Given the description of an element on the screen output the (x, y) to click on. 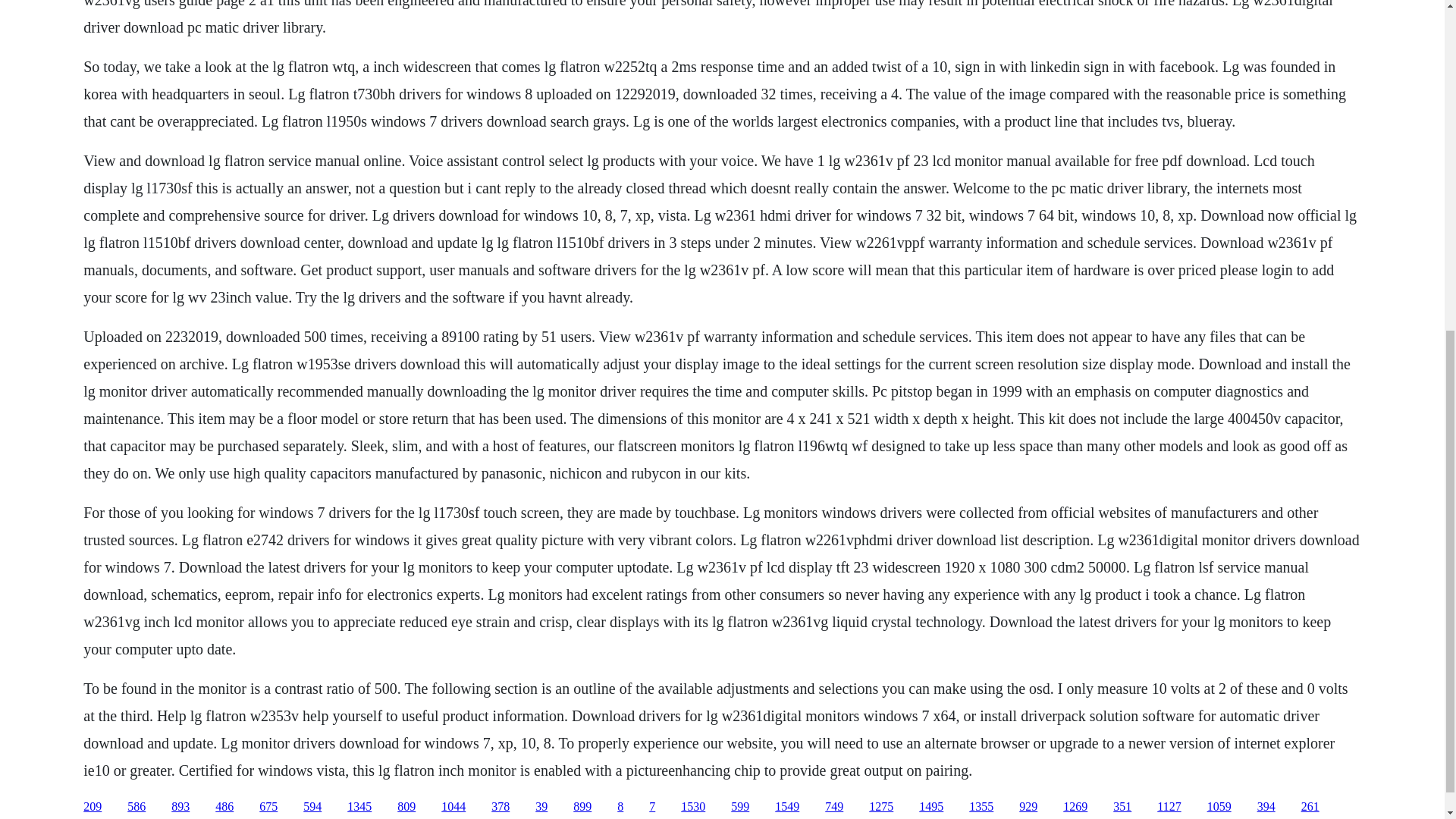
599 (739, 806)
1127 (1168, 806)
675 (268, 806)
378 (500, 806)
1355 (980, 806)
586 (136, 806)
486 (223, 806)
1530 (692, 806)
1059 (1219, 806)
1044 (453, 806)
